Given the description of an element on the screen output the (x, y) to click on. 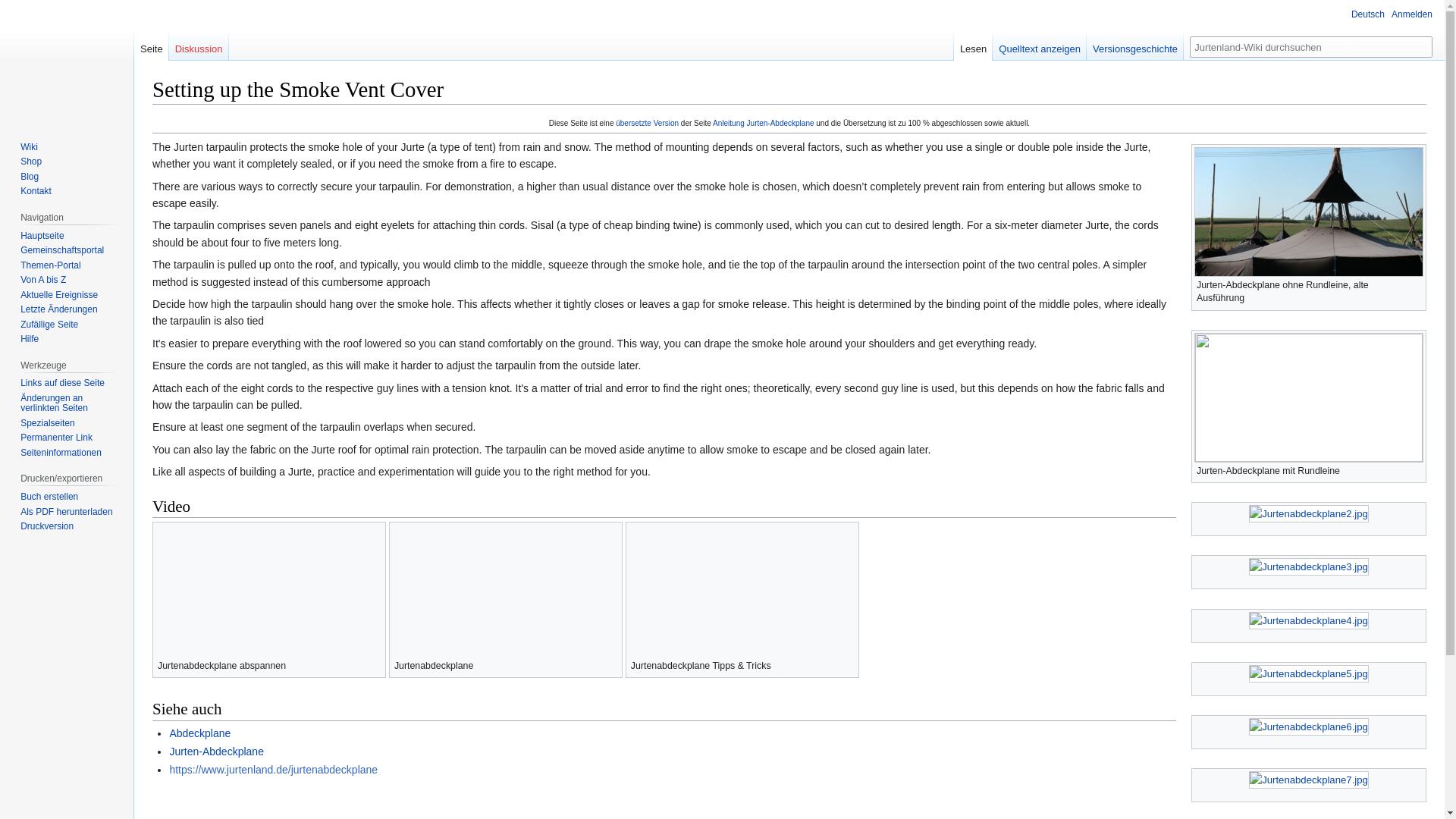
Suchen (1420, 46)
Diskussion (198, 45)
Jurten-Abdeckplane (215, 751)
Quelltext anzeigen (1039, 45)
Jurten-Abdeckplane (215, 751)
Play video (505, 588)
Versionsgeschichte (1134, 45)
Anleitung Jurten-Abdeckplane (763, 122)
Lesen (972, 45)
Seite (1420, 46)
Abdeckplane (199, 733)
Play video (742, 588)
Deutsch (1360, 11)
Anmelden (1411, 14)
Anleitung Jurten-Abdeckplane (763, 122)
